Given the description of an element on the screen output the (x, y) to click on. 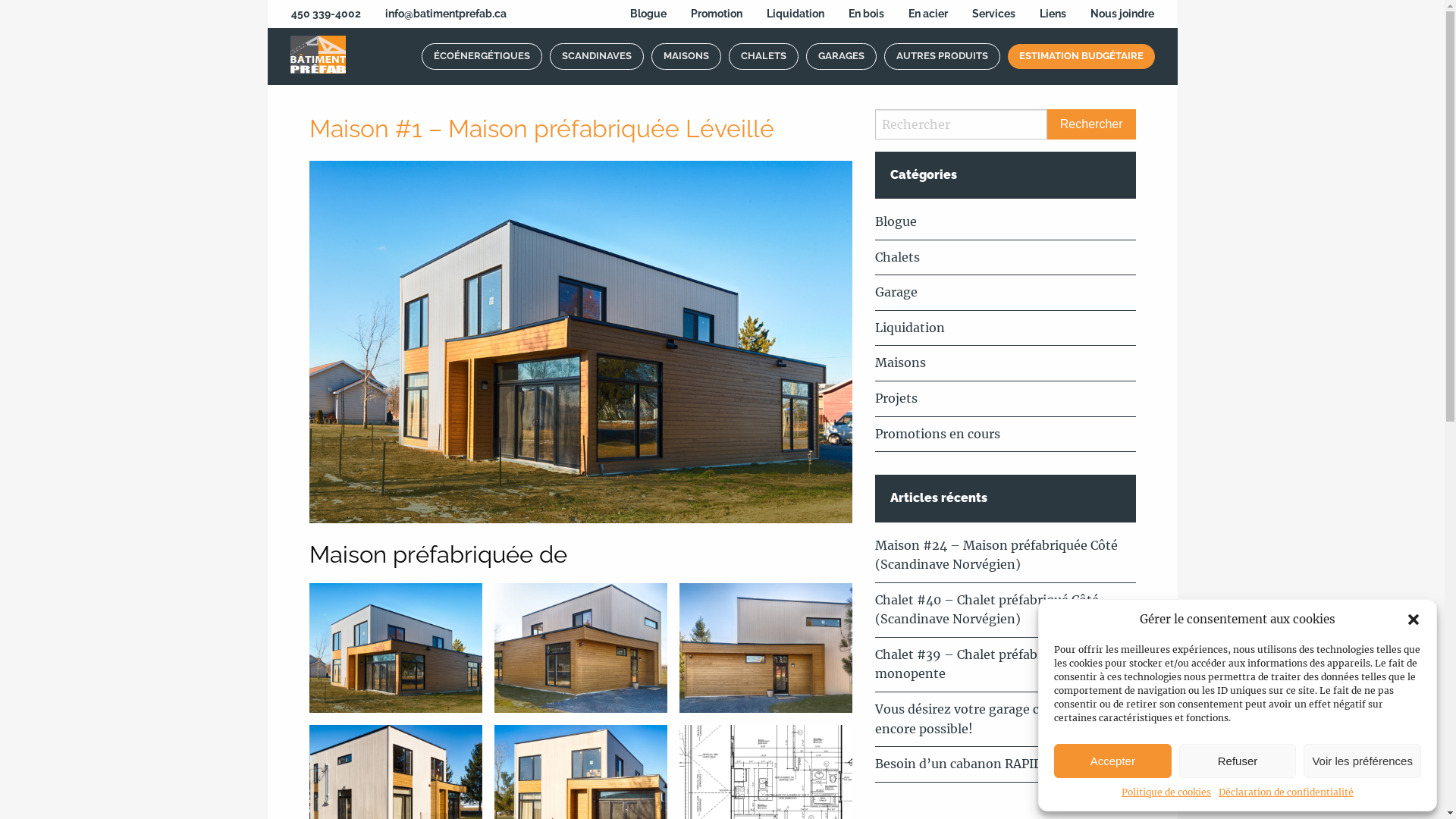
MAISONS Element type: text (685, 56)
En bois Element type: text (865, 14)
GARAGES Element type: text (840, 56)
Blogue Element type: text (647, 14)
Projets Element type: text (896, 397)
Promotions en cours Element type: text (937, 433)
Liquidation Element type: text (794, 14)
Nous joindre Element type: text (1122, 14)
Promotion Element type: text (715, 14)
Refuser Element type: text (1237, 760)
SCANDINAVES Element type: text (596, 56)
Chalets Element type: text (897, 256)
Maisons Element type: text (900, 362)
info@batimentprefab.ca Element type: text (445, 12)
Liquidation Element type: text (909, 327)
CHALETS Element type: text (762, 56)
En acier Element type: text (928, 14)
Rechercher Element type: text (1091, 124)
Accepter Element type: text (1112, 760)
AUTRES PRODUITS Element type: text (942, 56)
Garage Element type: text (896, 291)
Liens Element type: text (1051, 14)
Politique de cookies Element type: text (1166, 792)
Services Element type: text (993, 14)
Blogue Element type: text (895, 221)
